Given the description of an element on the screen output the (x, y) to click on. 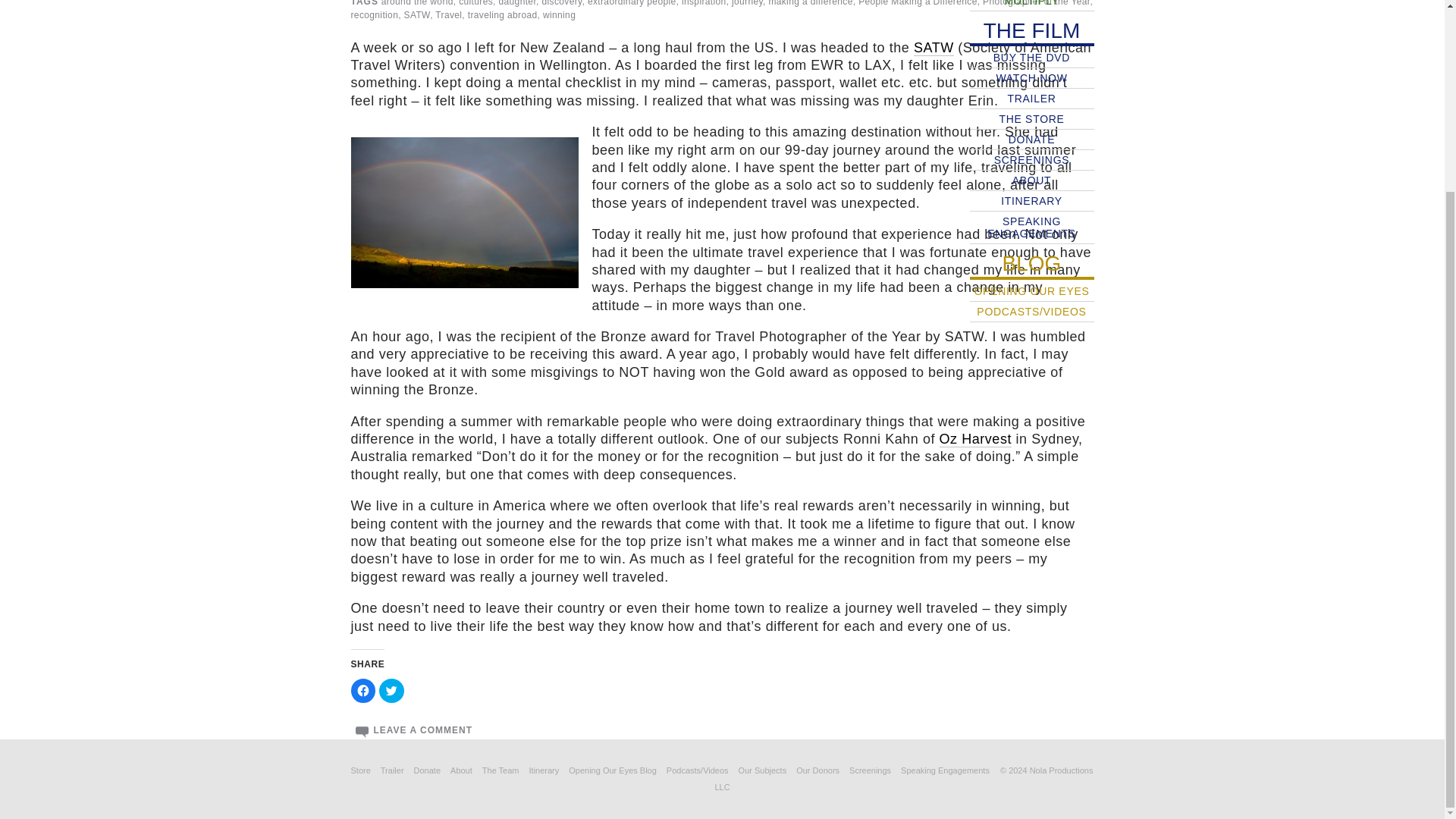
cultures (475, 3)
discovery (560, 3)
around the world (416, 3)
daughter (518, 3)
